Given the description of an element on the screen output the (x, y) to click on. 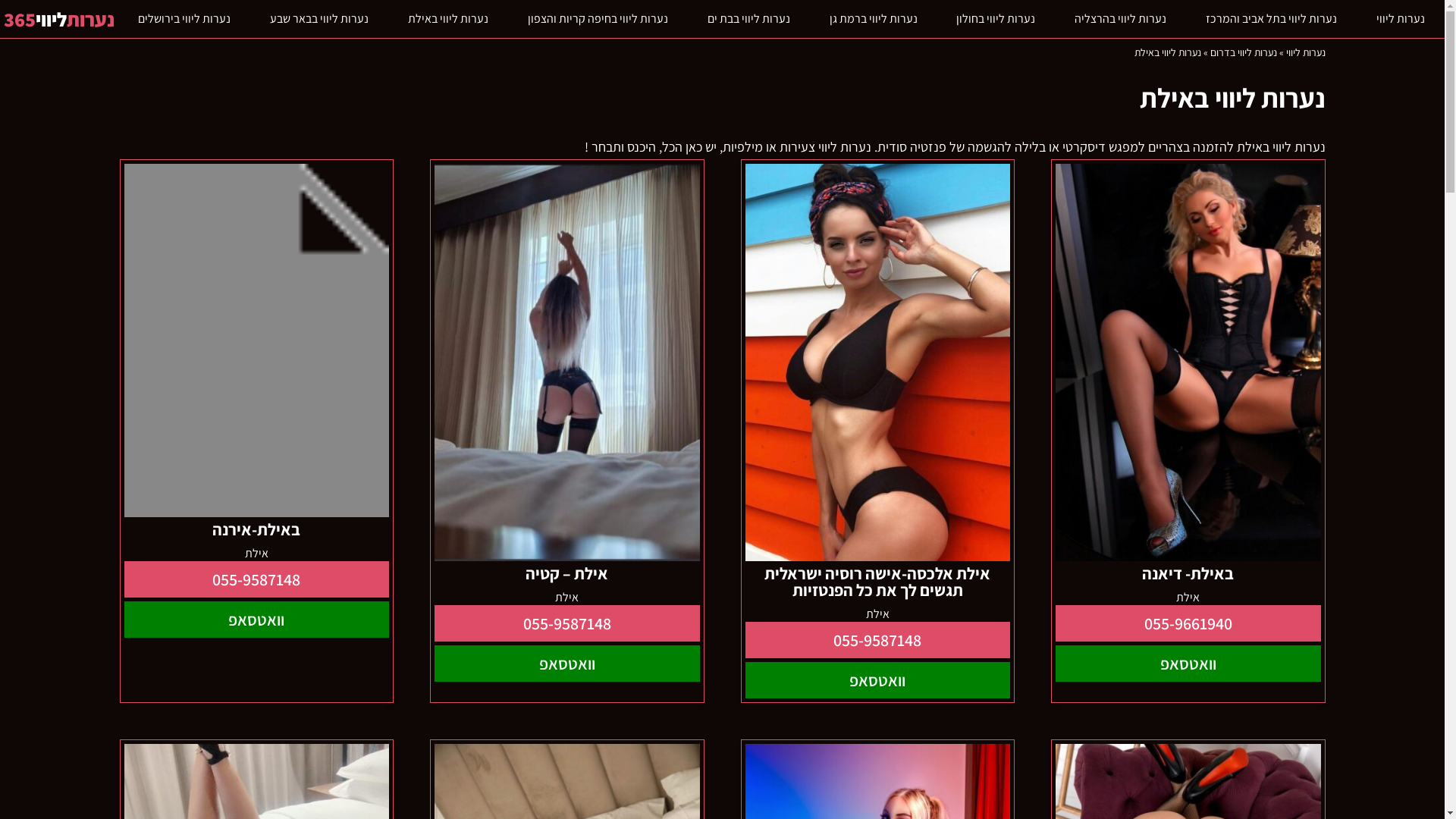
055-9661940 Element type: text (1188, 623)
055-9587148 Element type: text (256, 579)
055-9587148 Element type: text (566, 623)
055-9587148 Element type: text (877, 639)
